Given the description of an element on the screen output the (x, y) to click on. 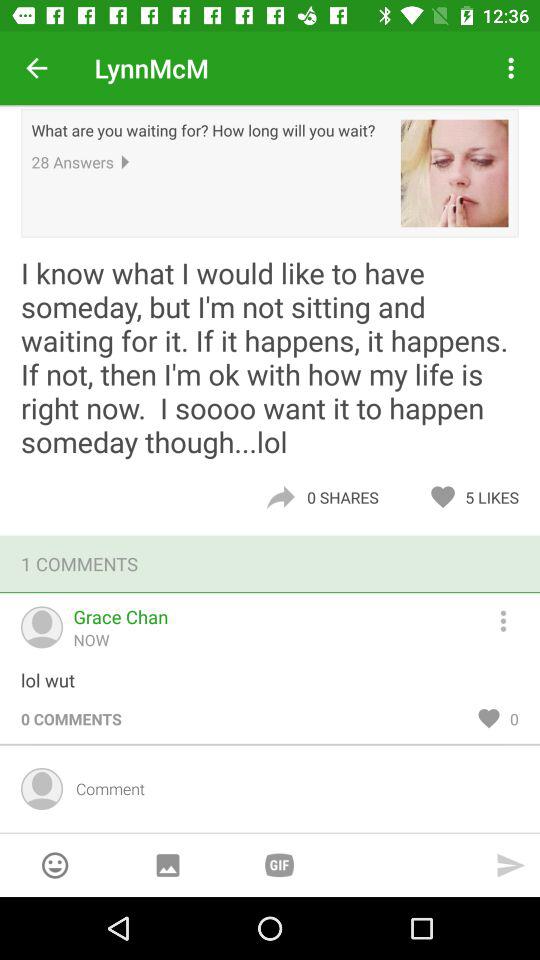
send a gif (279, 864)
